Given the description of an element on the screen output the (x, y) to click on. 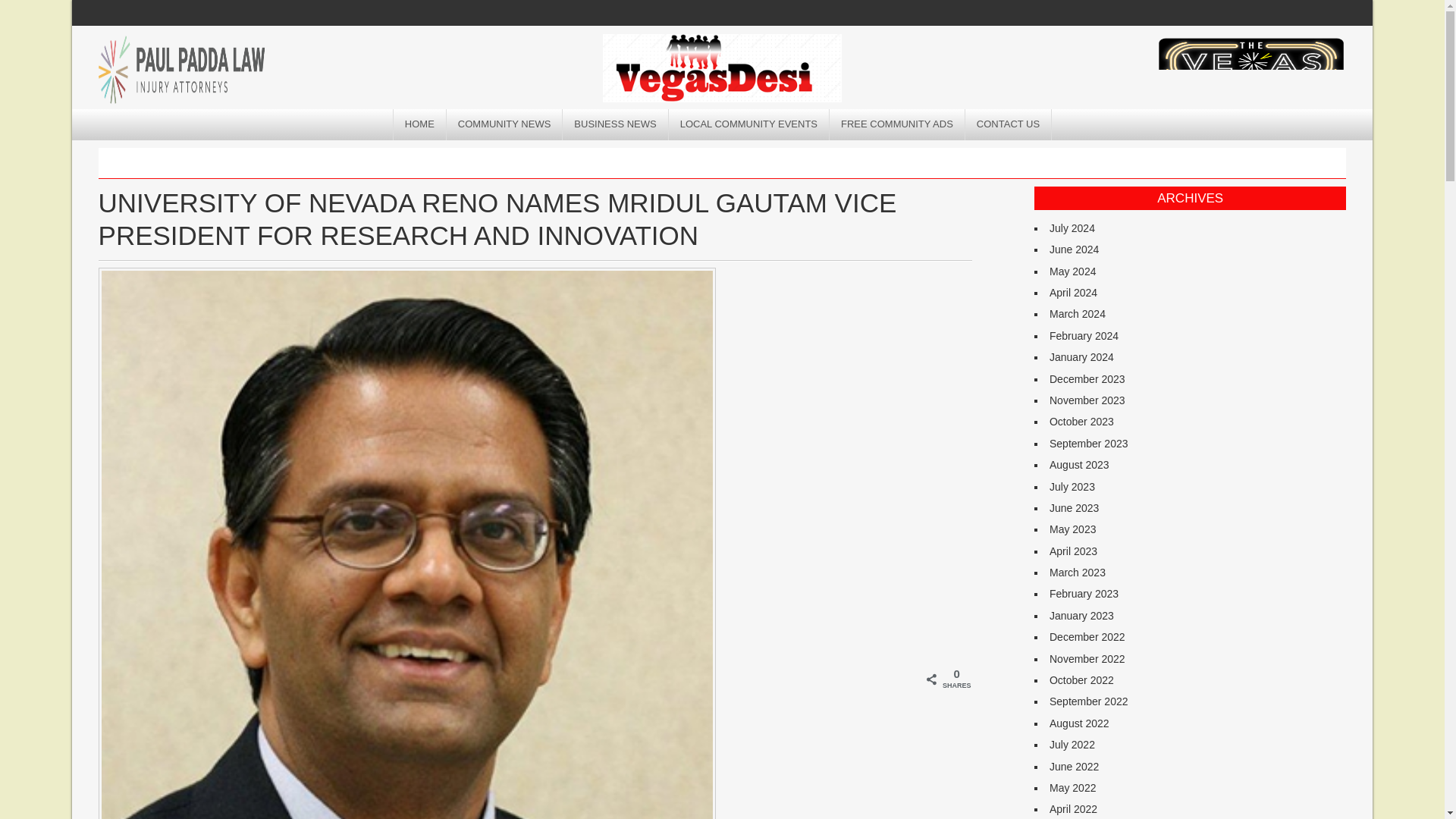
May 2024 (1072, 271)
April 2024 (1073, 292)
FREE COMMUNITY ADS (897, 124)
HOME (419, 124)
COMMUNITY NEWS (504, 124)
July 2024 (1071, 227)
March 2024 (1077, 313)
LOCAL COMMUNITY EVENTS (748, 124)
CONTACT US (1008, 124)
June 2024 (1074, 249)
